Given the description of an element on the screen output the (x, y) to click on. 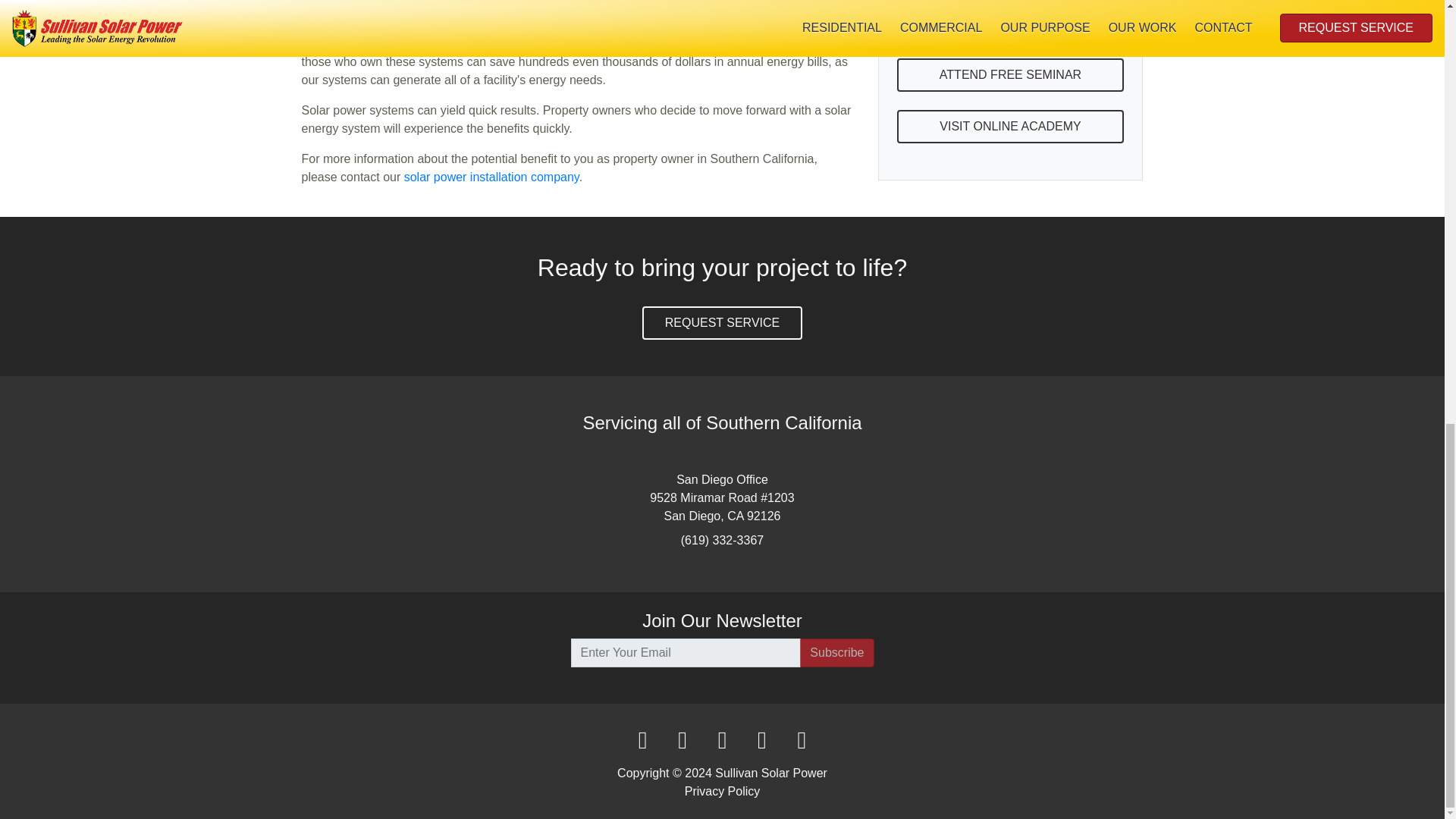
REQUEST SERVICE (722, 322)
Subscribe (836, 652)
solar power installation company (491, 176)
solar power installation company (491, 176)
